Given the description of an element on the screen output the (x, y) to click on. 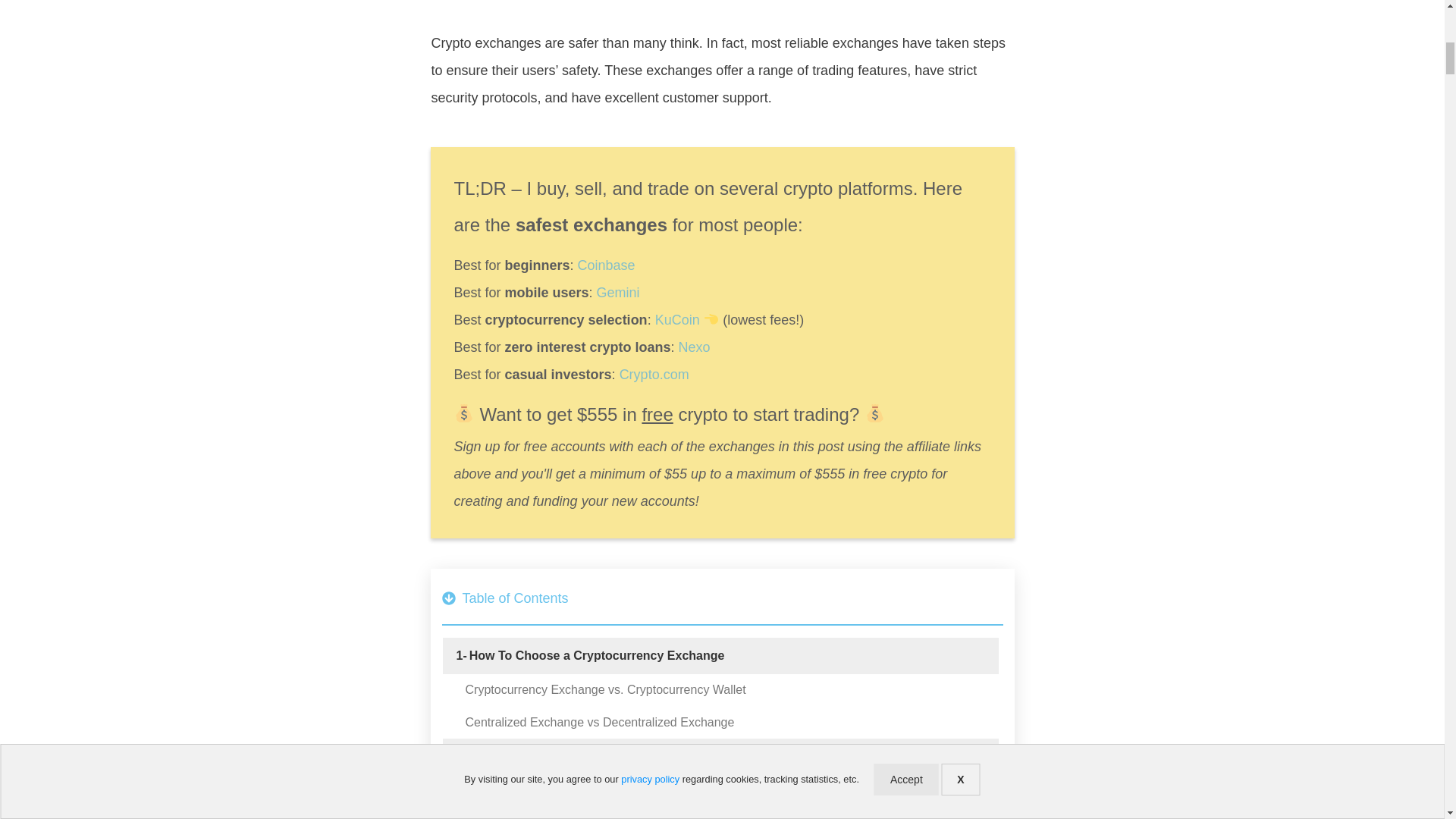
How To Choose a Cryptocurrency Exchange (596, 655)
1. Coinbase - Best Crypto Exchange for Beginner Investors (624, 791)
Coinbase (606, 264)
The Best Crypto Exchange Platforms For Every User (620, 756)
Centralized Exchange vs Decentralized Exchange (600, 722)
1. Coinbase - Best Crypto Exchange for Beginner Investors (624, 791)
Cryptocurrency Exchange vs. Cryptocurrency Wallet (605, 689)
Crypto.com (654, 374)
Nexo (694, 346)
Centralized Exchange vs Decentralized Exchange (600, 722)
2. Gemini - Best Crypto Exchange for the Mobile User (610, 816)
2. Gemini - Best Crypto Exchange for the Mobile User (610, 816)
How To Choose a Cryptocurrency Exchange (596, 655)
KuCoin (677, 319)
Gemini (618, 292)
